Given the description of an element on the screen output the (x, y) to click on. 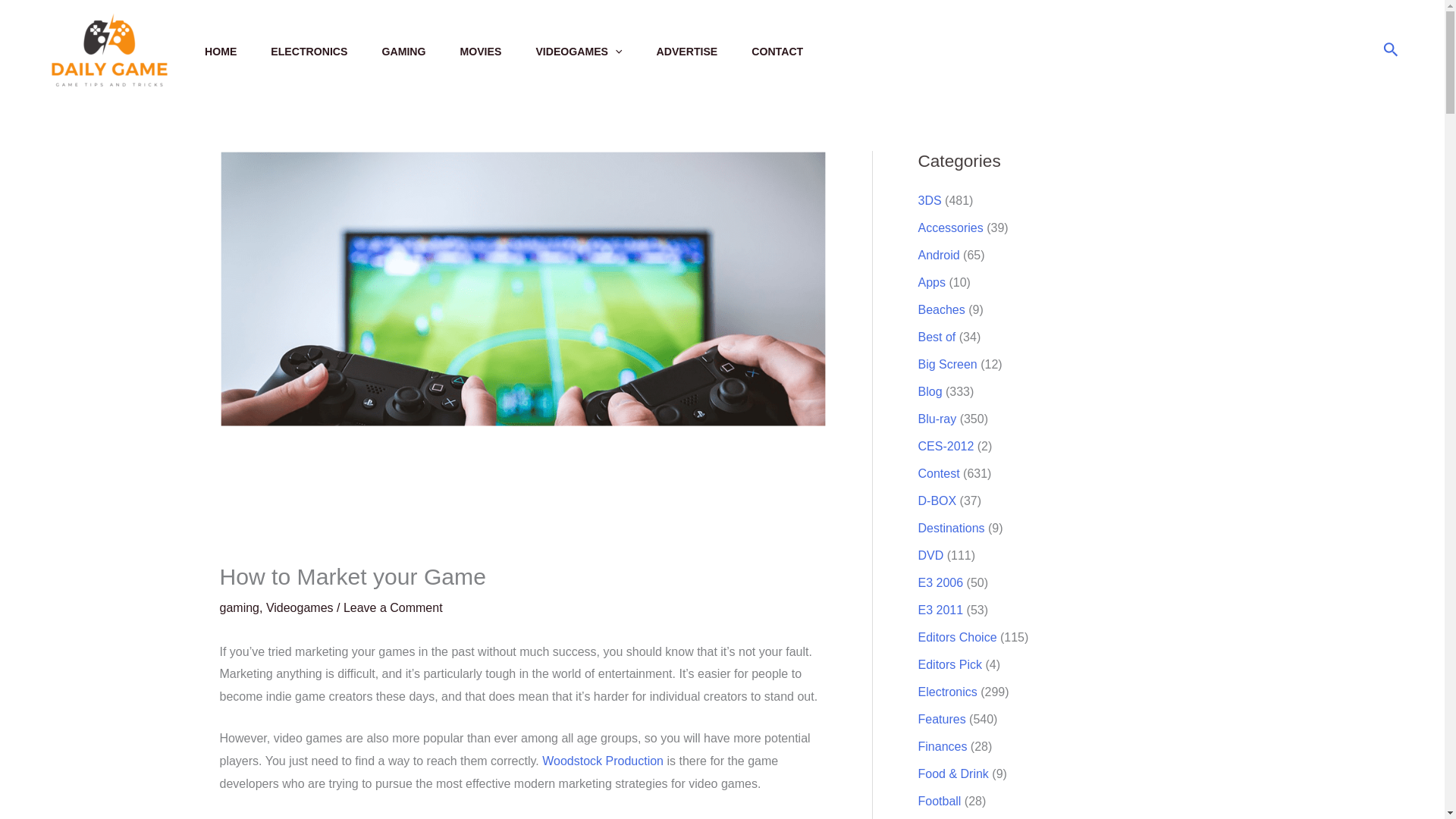
Woodstock Production (602, 760)
HOME (237, 50)
VIDEOGAMES (595, 50)
GAMING (420, 50)
CONTACT (794, 50)
gaming (239, 607)
MOVIES (497, 50)
Leave a Comment (392, 607)
Videogames (299, 607)
ELECTRONICS (325, 50)
